Given the description of an element on the screen output the (x, y) to click on. 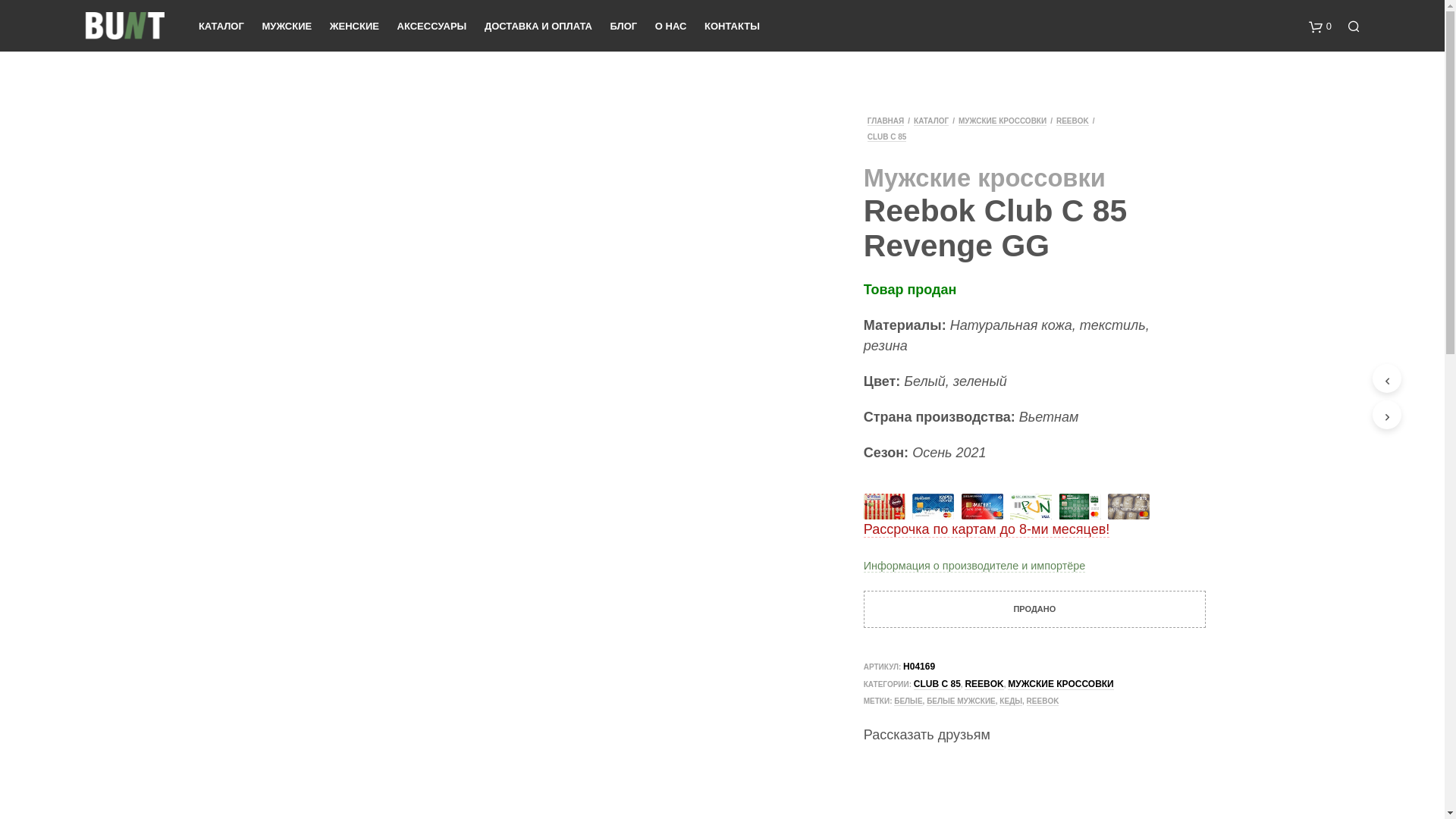
REEBOK Element type: text (1072, 120)
REEBOK Element type: text (983, 684)
REEBOK Element type: text (1042, 701)
CLUB C 85 Element type: text (886, 136)
CLUB C 85 Element type: text (936, 684)
0 Element type: text (1319, 25)
